Given the description of an element on the screen output the (x, y) to click on. 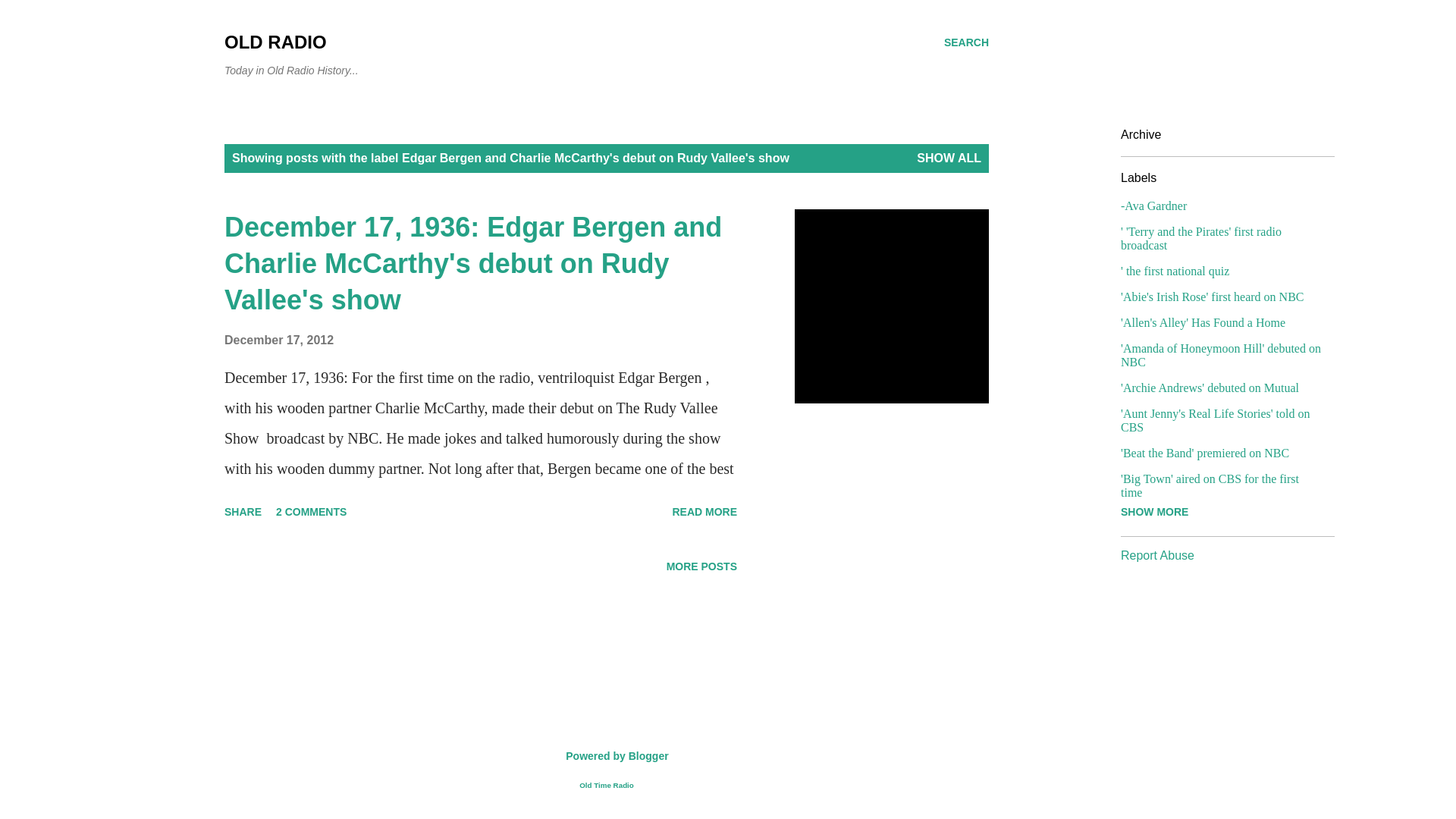
OLD RADIO (275, 41)
READ MORE (703, 511)
2 COMMENTS (310, 511)
More posts (701, 566)
SHARE (242, 511)
December 17, 2012 (278, 339)
SHOW ALL (949, 158)
permanent link (278, 339)
